Given the description of an element on the screen output the (x, y) to click on. 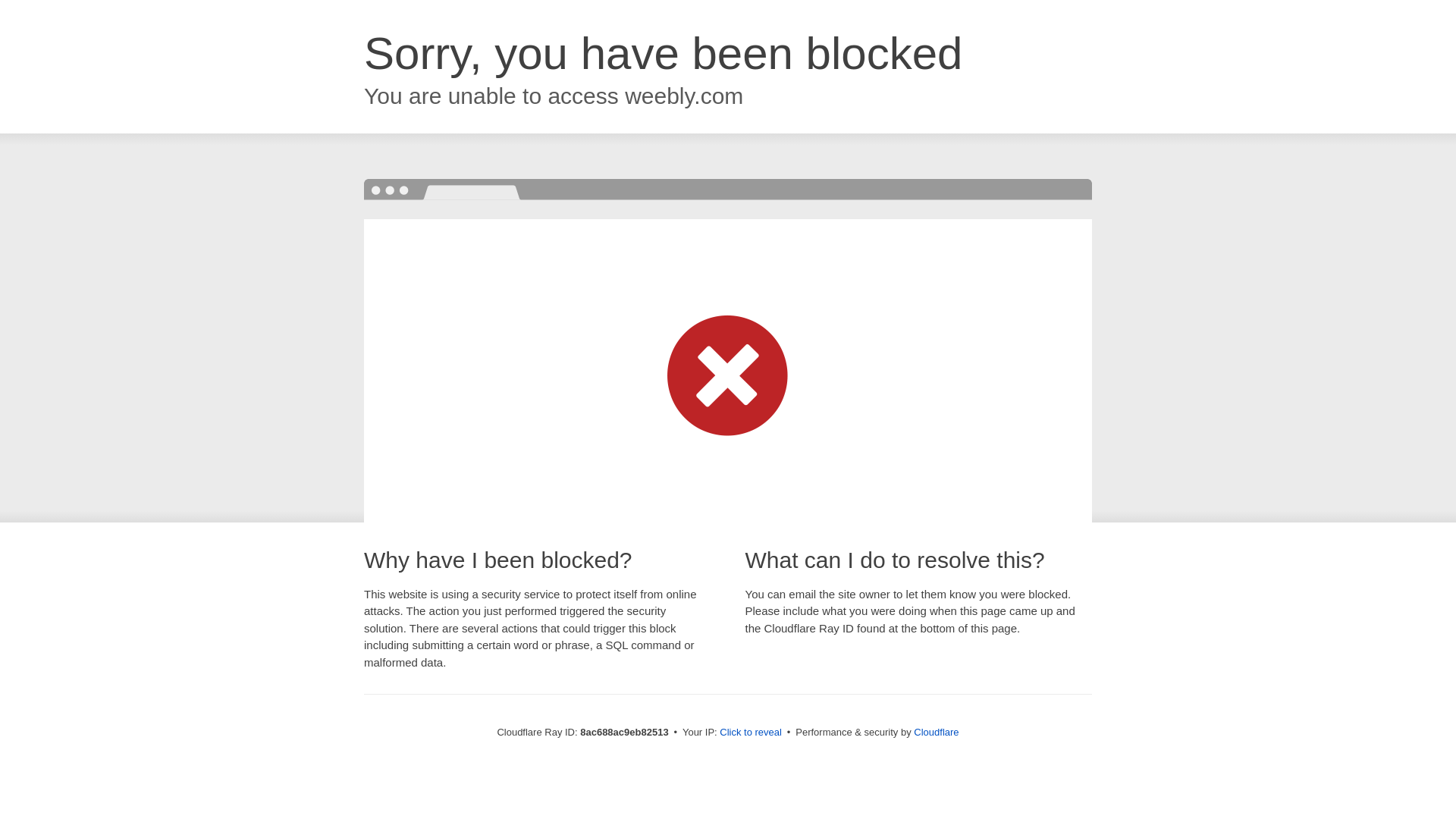
Cloudflare (936, 731)
Click to reveal (750, 732)
